Given the description of an element on the screen output the (x, y) to click on. 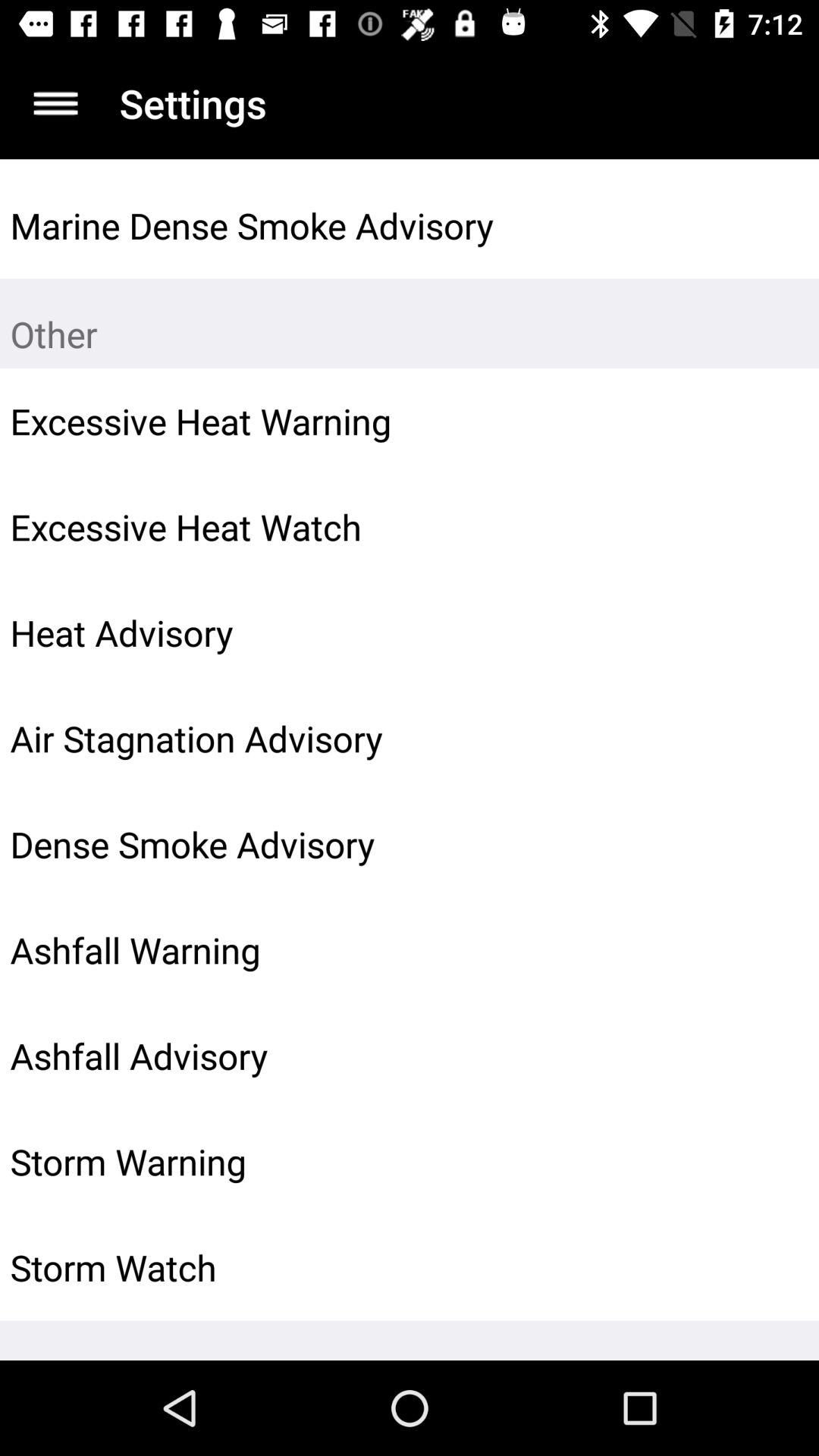
press app next to settings (55, 103)
